Given the description of an element on the screen output the (x, y) to click on. 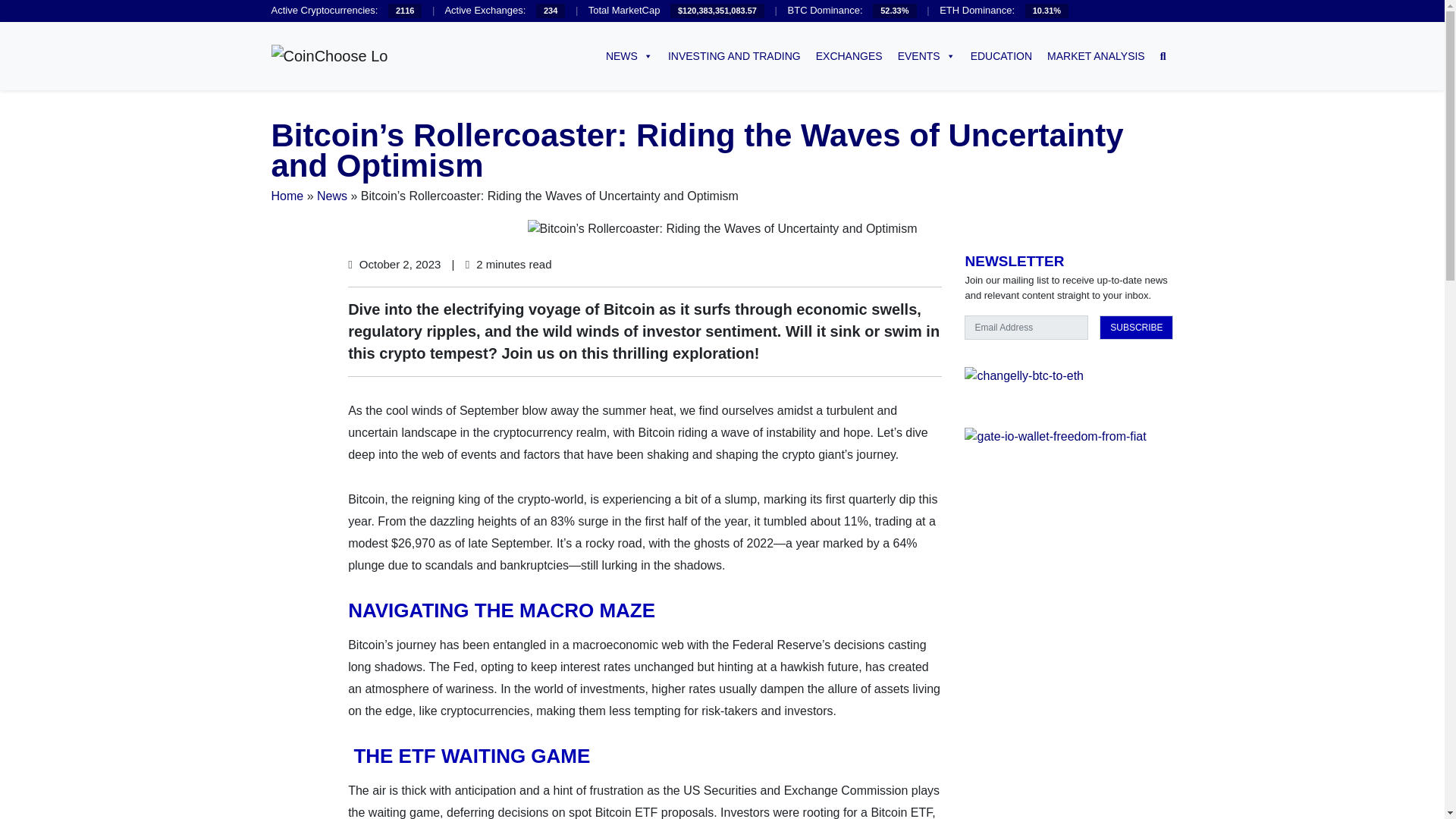
INVESTING AND TRADING (734, 56)
SUBSCRIBE (1136, 327)
EXCHANGES (848, 56)
Home (287, 195)
EVENTS (925, 56)
MARKET ANALYSIS (1096, 56)
CoinChoose Logo (328, 56)
EDUCATION (1000, 56)
NEWS (629, 56)
News (332, 195)
